Given the description of an element on the screen output the (x, y) to click on. 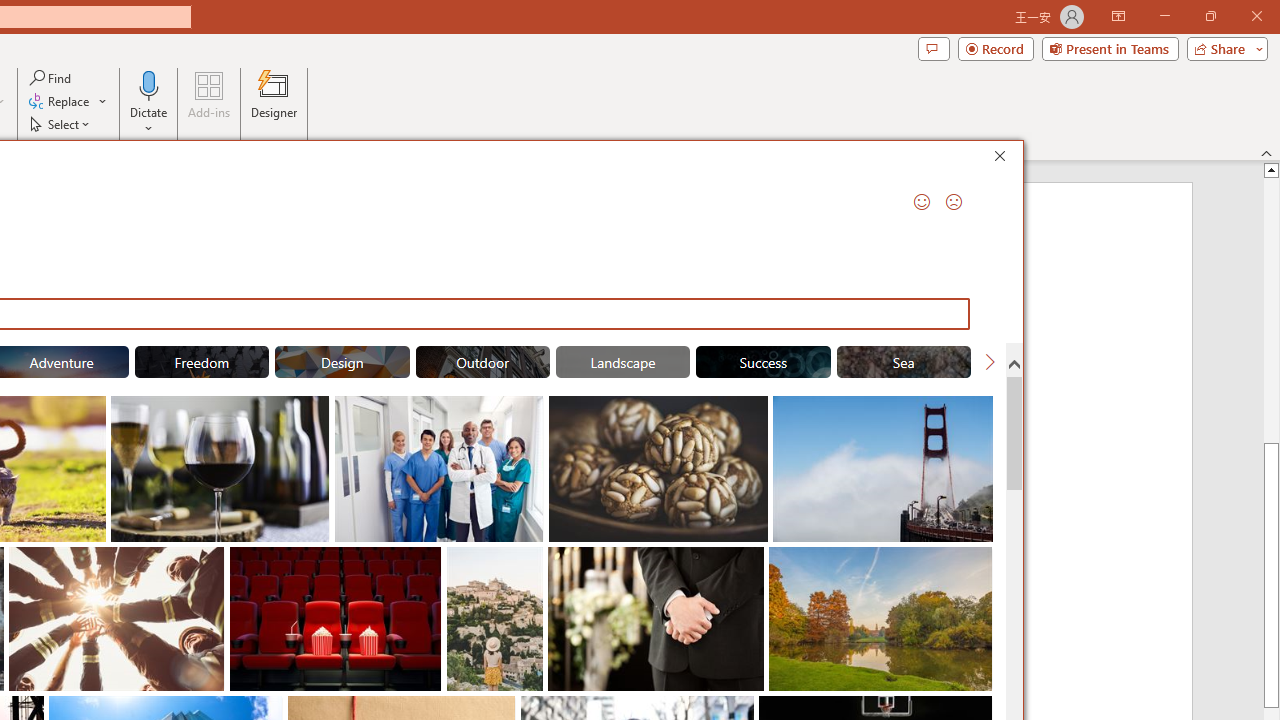
"Outdoor" Stock Images. (483, 362)
Next Search Suggestion (990, 362)
"Design" Stock Images. (342, 362)
Send a Frown (954, 201)
Thumbnail (977, 561)
"Sea" Stock Images. (904, 362)
"Freedom" Stock Images. (201, 362)
"Landscape" Stock Images. (622, 362)
